Given the description of an element on the screen output the (x, y) to click on. 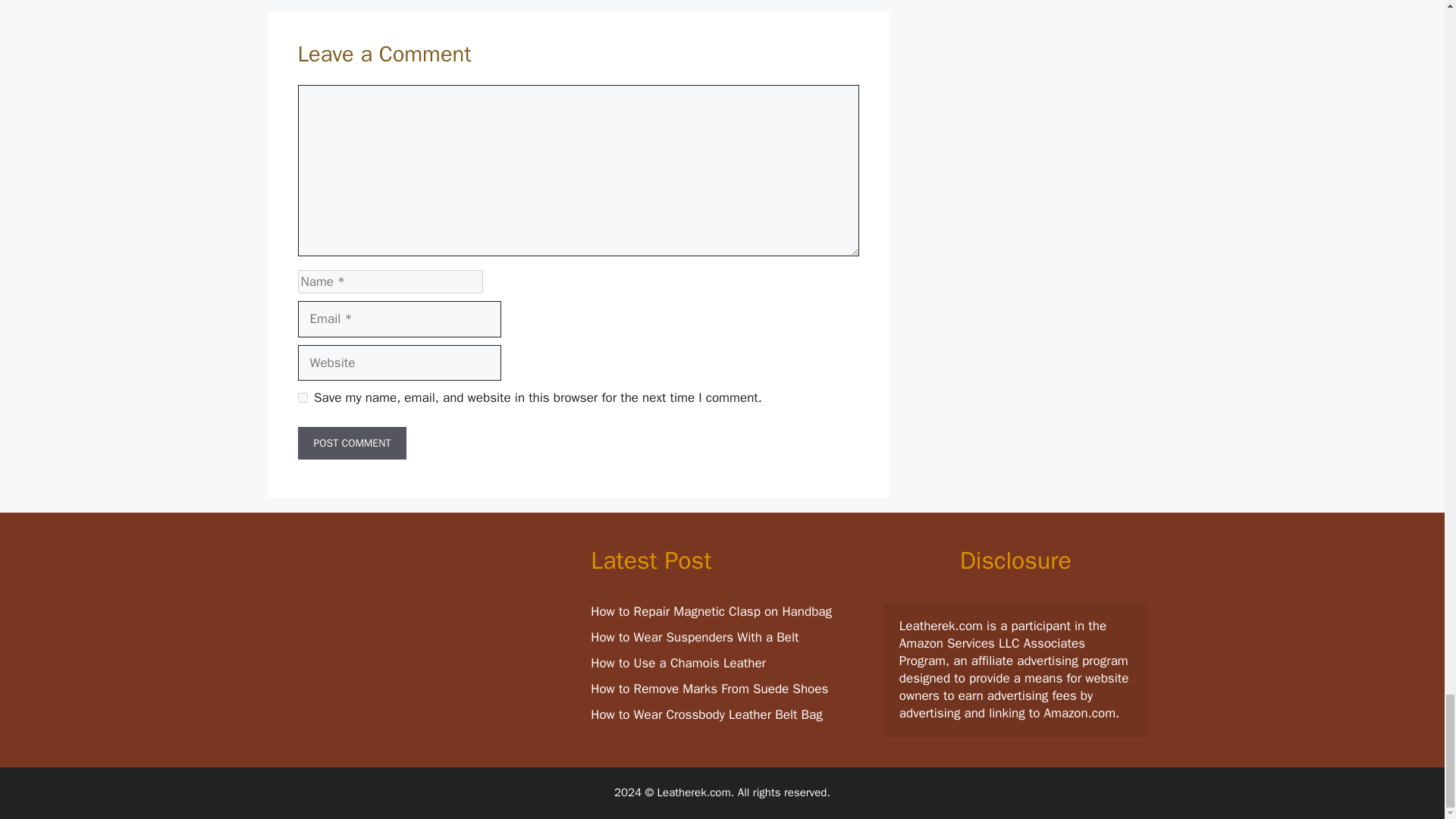
Post Comment (351, 442)
How to Wear Crossbody Leather Belt Bag (706, 714)
How to Wear Suspenders With a Belt (694, 637)
Post Comment (351, 442)
yes (302, 397)
How to Use a Chamois Leather (678, 662)
How to Remove Marks From Suede Shoes (709, 688)
How to Repair Magnetic Clasp on Handbag (711, 611)
